Given the description of an element on the screen output the (x, y) to click on. 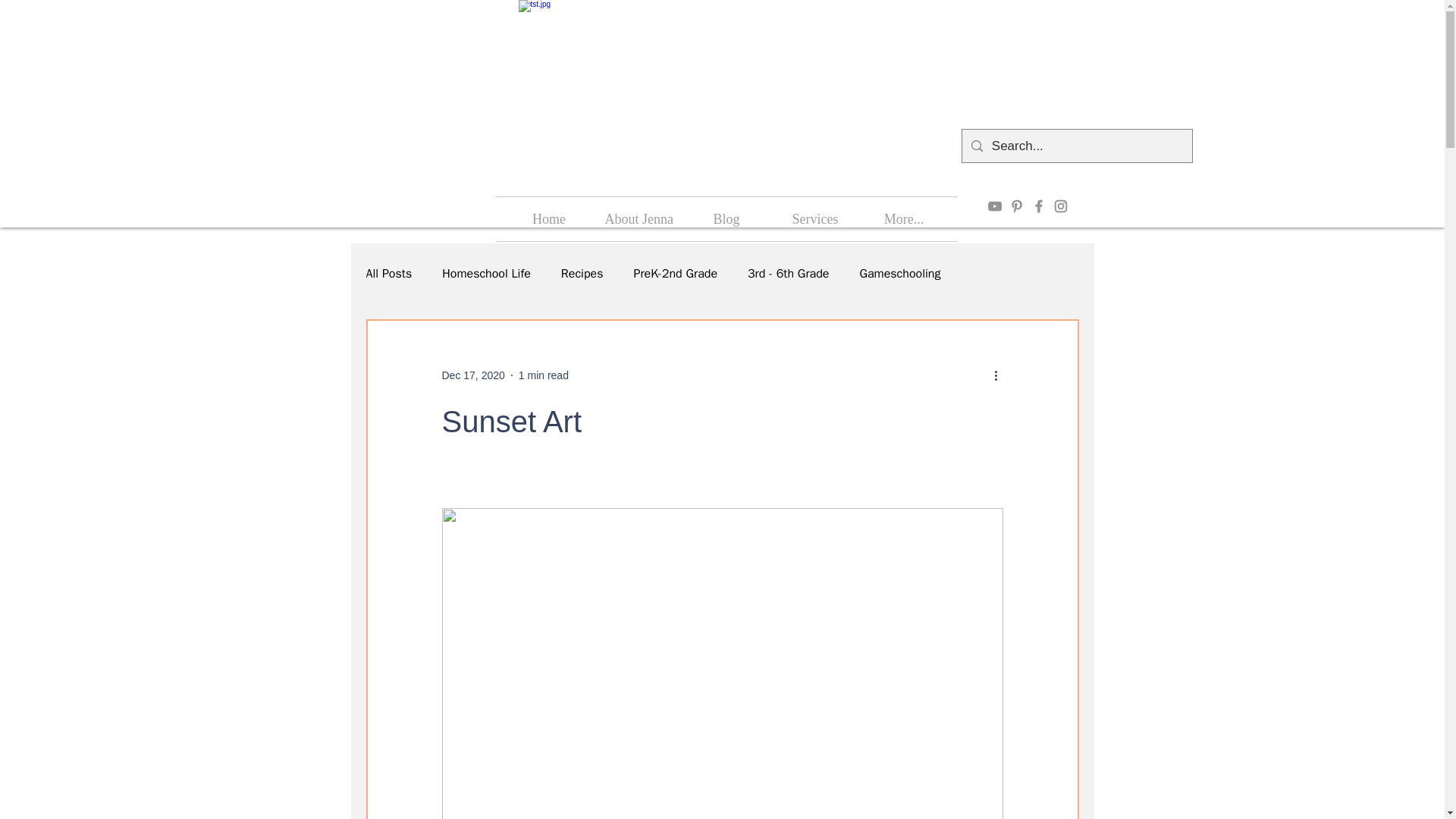
Homeschool Life (486, 273)
Blog (726, 218)
Dec 17, 2020 (472, 374)
Services (814, 218)
All Posts (388, 273)
Recipes (582, 273)
Gameschooling (899, 273)
1 min read (543, 374)
About Jenna (636, 218)
Home (549, 218)
3rd - 6th Grade (788, 273)
PreK-2nd Grade (675, 273)
